Given the description of an element on the screen output the (x, y) to click on. 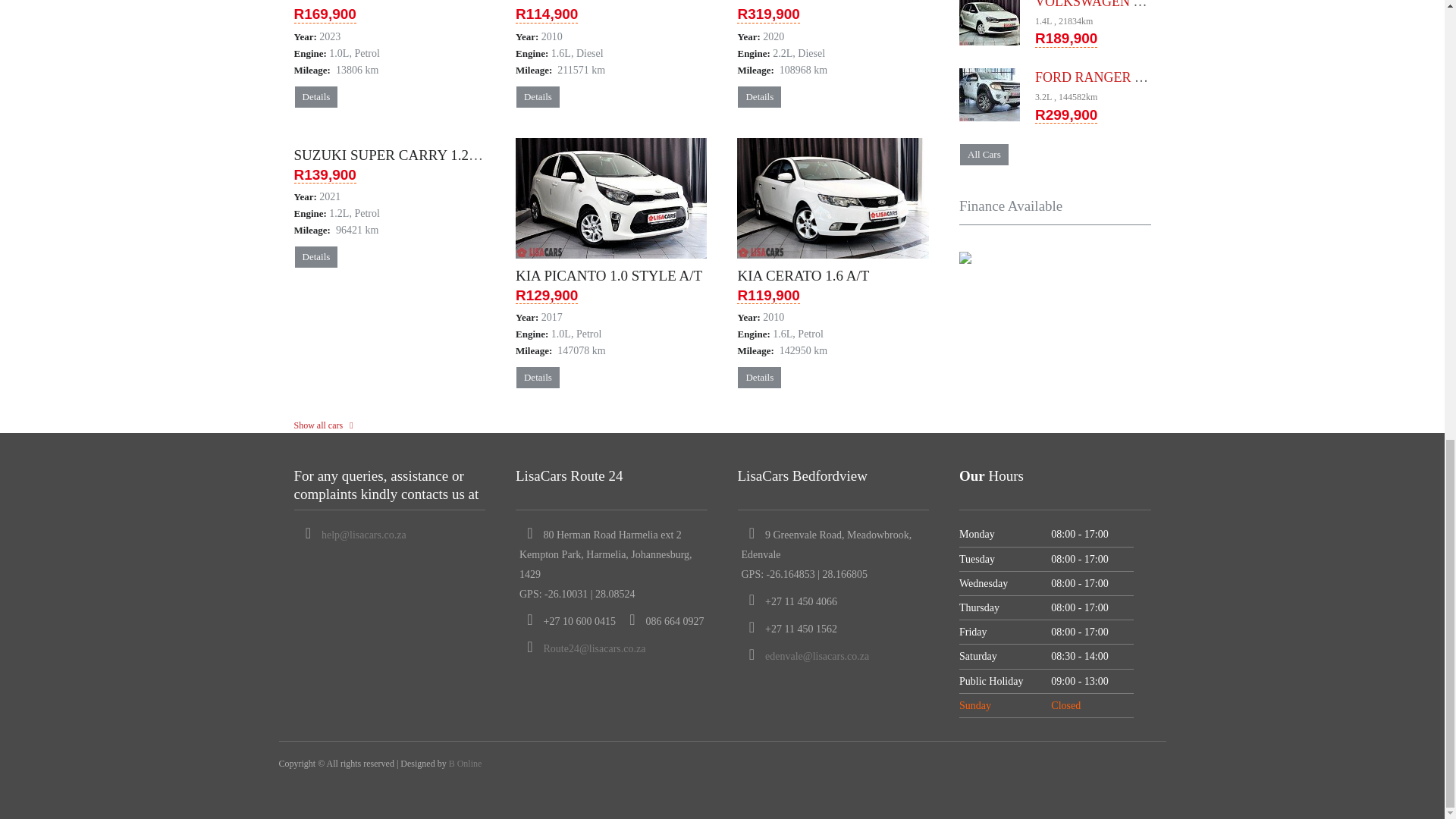
Details (537, 96)
Details (759, 96)
Details (315, 96)
RENAULT KWID1.0 CLIMBER 5DR (406, 1)
